Given the description of an element on the screen output the (x, y) to click on. 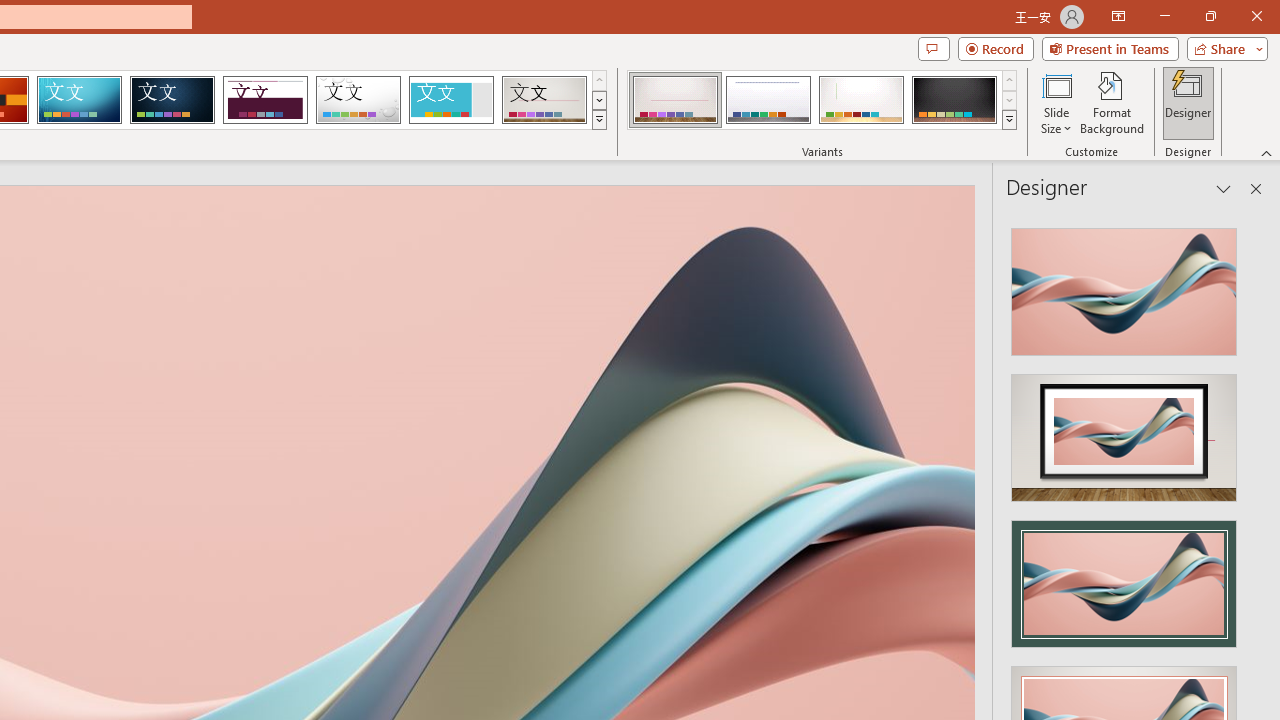
AutomationID: ThemeVariantsGallery (822, 99)
Recommended Design: Design Idea (1124, 286)
Gallery Variant 4 (953, 100)
Themes (598, 120)
Damask (171, 100)
Variants (1009, 120)
Slide Size (1056, 102)
Droplet (358, 100)
